Given the description of an element on the screen output the (x, y) to click on. 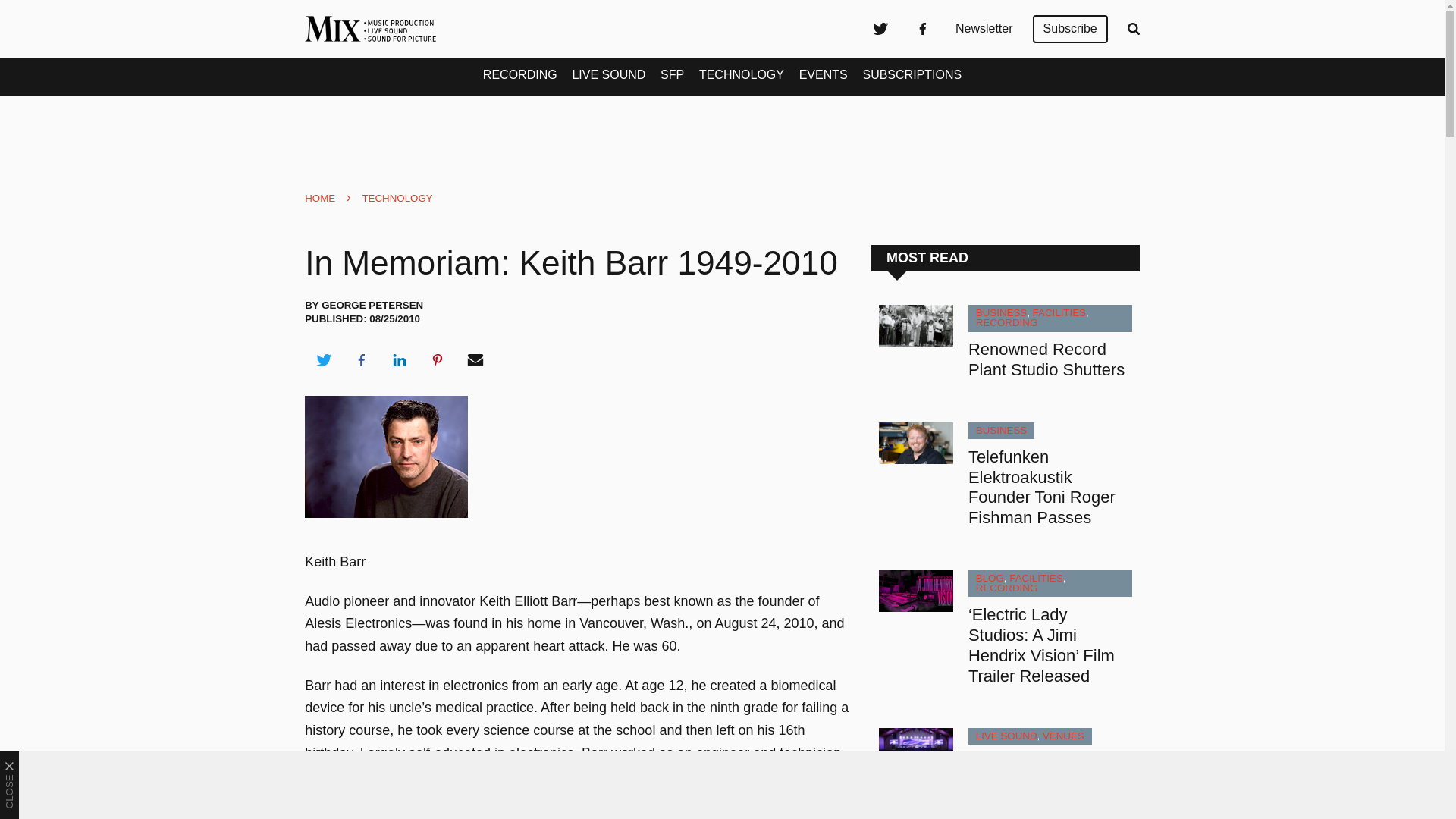
Share via Email (476, 360)
Share on Facebook (361, 360)
Share on Pinterest (438, 360)
Share on Twitter (323, 360)
Share on LinkedIn (399, 360)
